Given the description of an element on the screen output the (x, y) to click on. 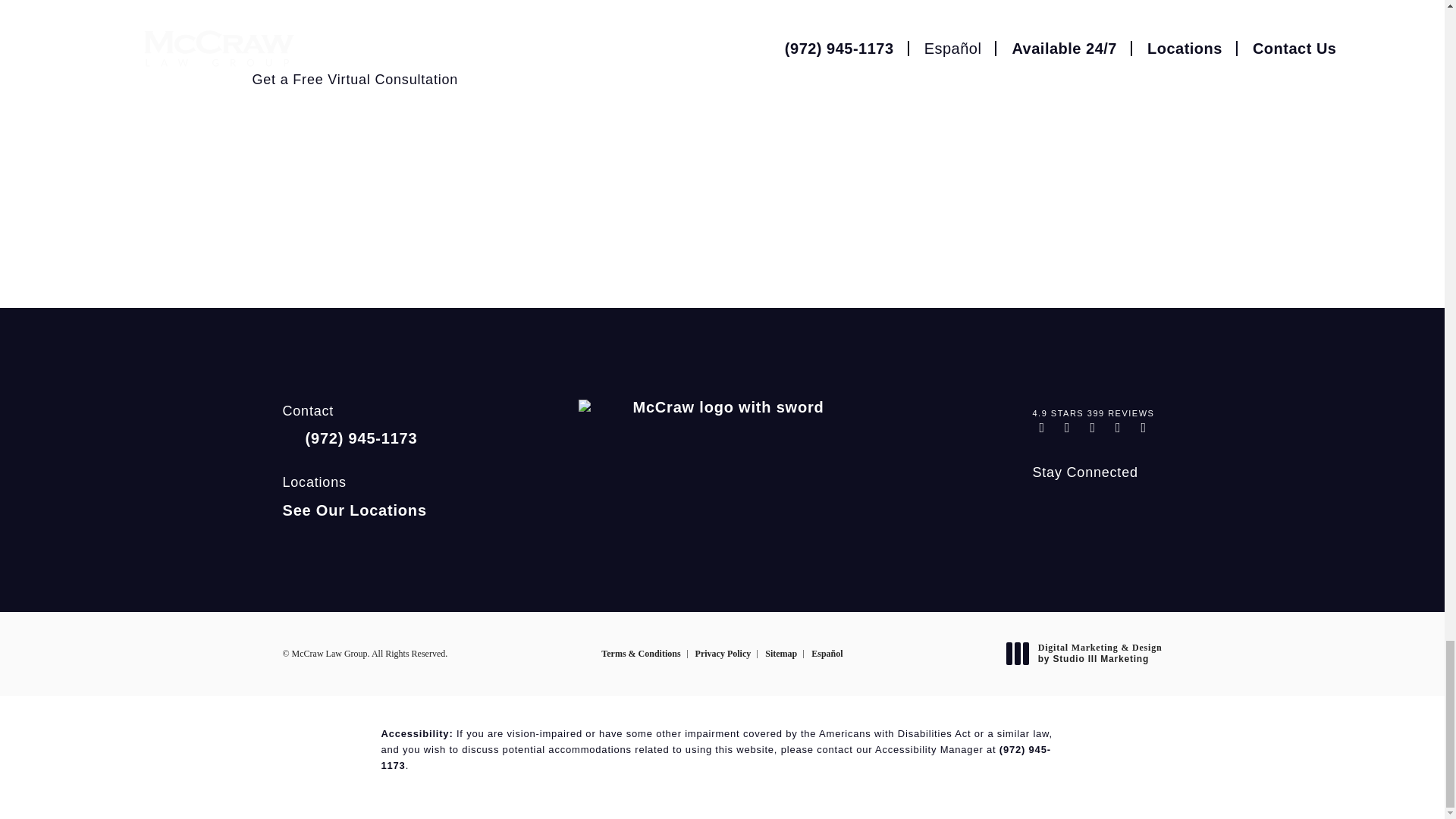
McCraw Law Group on Twitter (1098, 503)
McCraw Law Group on Facebook (1071, 503)
McCraw Law Group on Instagram (1042, 503)
